Given the description of an element on the screen output the (x, y) to click on. 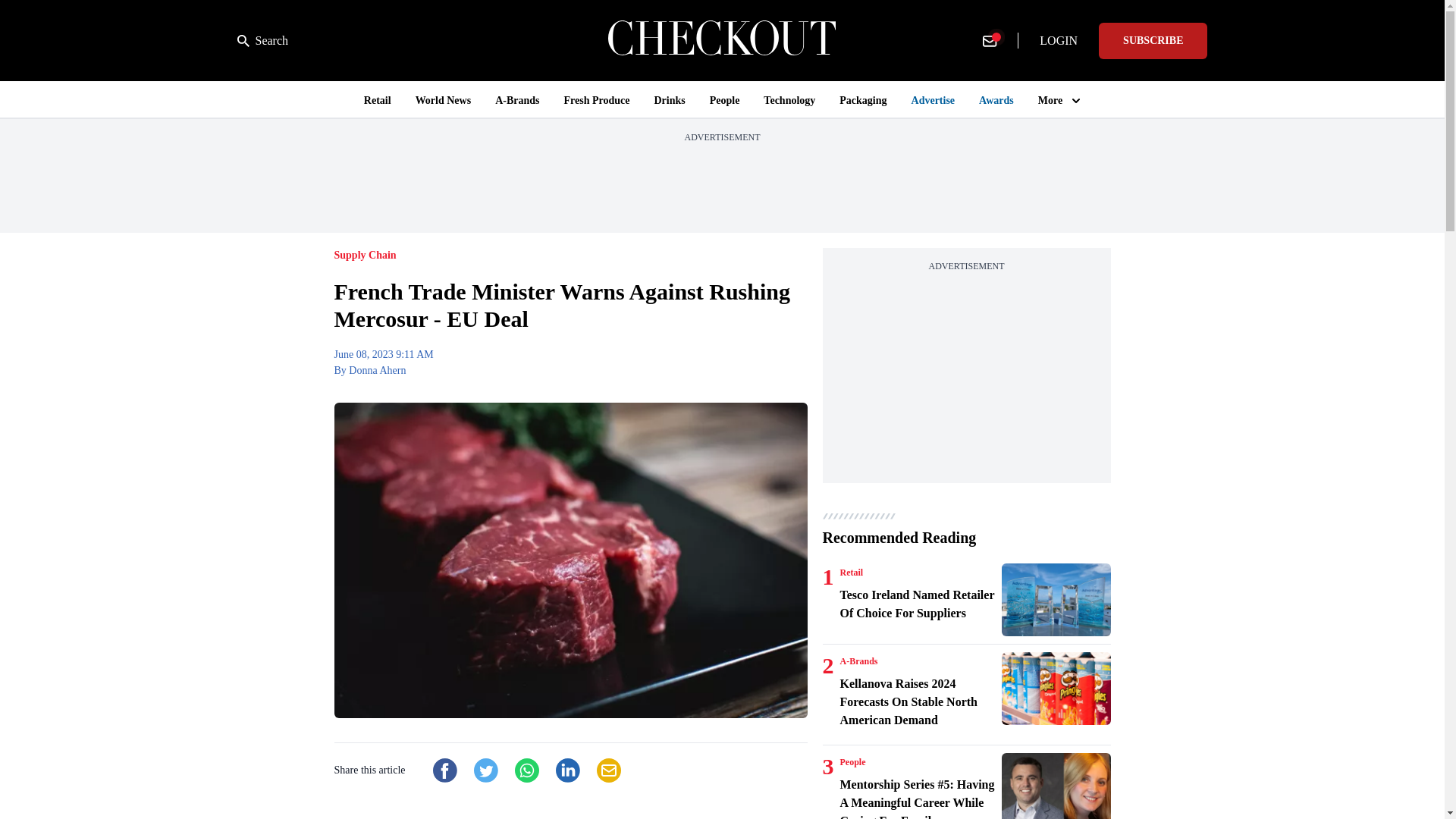
Search (261, 40)
Checkout (721, 40)
A-Brands (858, 661)
LOGIN (1058, 40)
Tesco Ireland Named Retailer Of Choice For Suppliers (1055, 599)
Retail (851, 572)
Tesco Ireland Named Retailer Of Choice For Suppliers (917, 604)
People (853, 761)
